Given the description of an element on the screen output the (x, y) to click on. 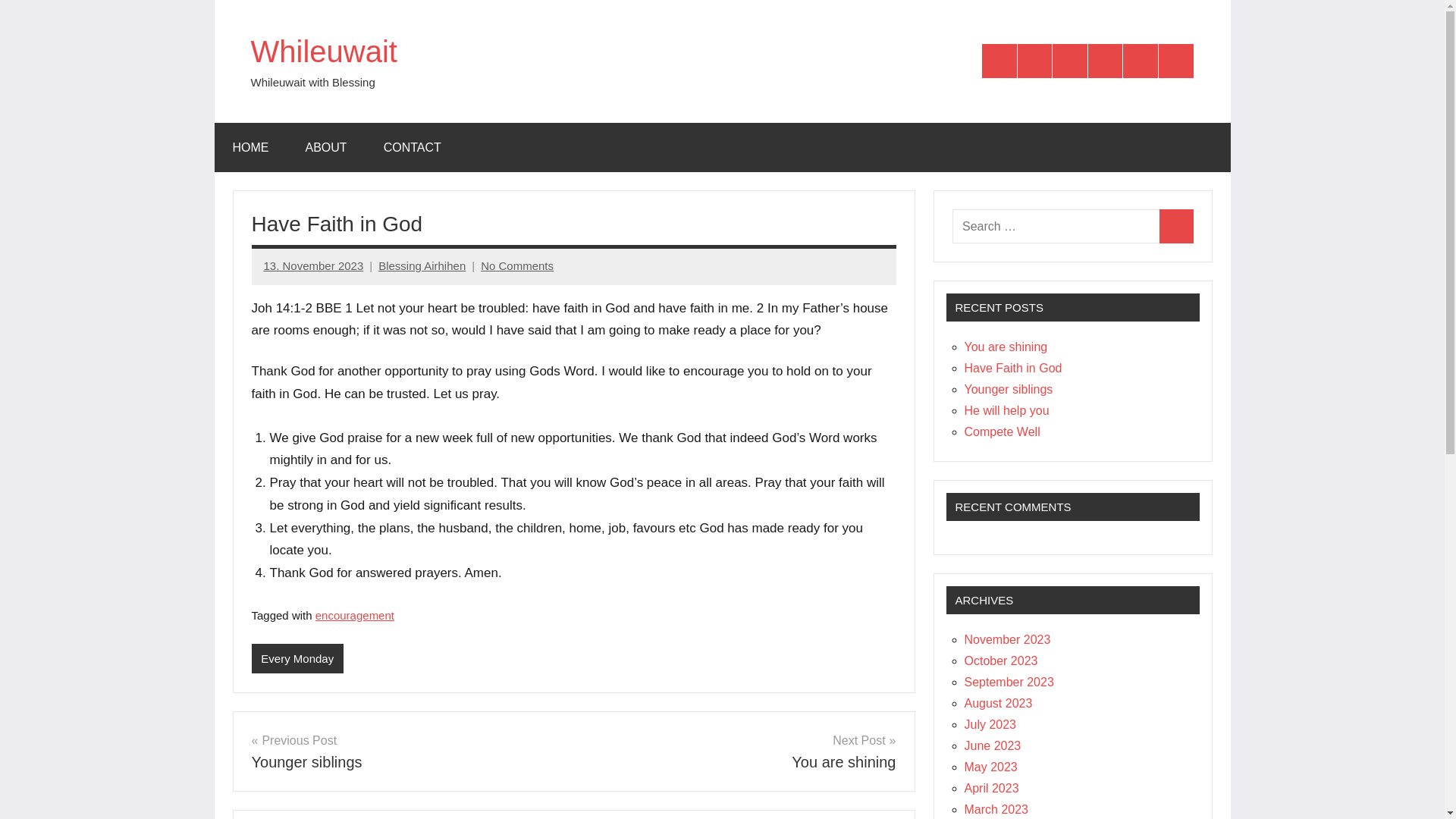
March 2023 (996, 809)
YouTube (1104, 61)
November 2023 (1007, 639)
Compete Well (1002, 431)
13. November 2023 (313, 265)
Search (1175, 226)
He will help you (1006, 410)
July 2023 (740, 751)
Every Monday (989, 724)
